Given the description of an element on the screen output the (x, y) to click on. 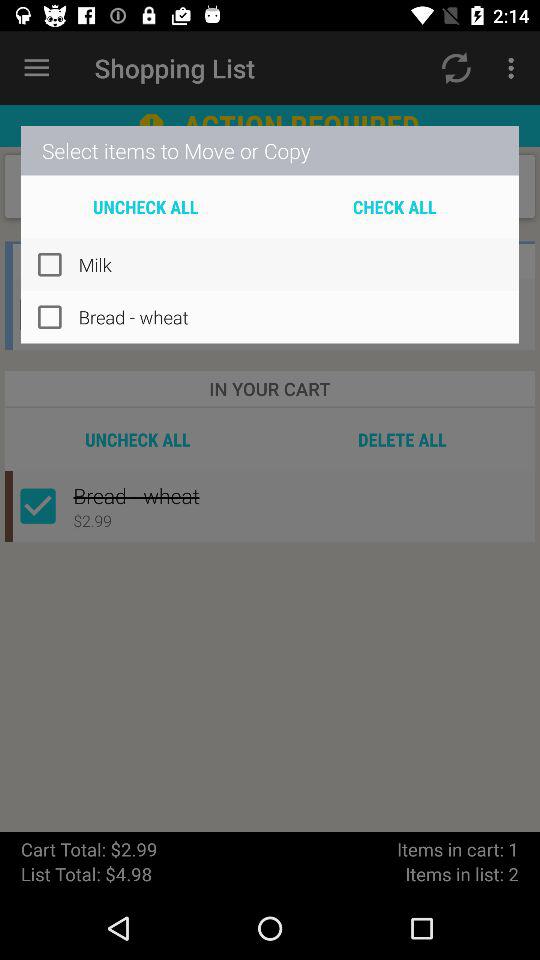
turn off icon to the left of check all icon (145, 206)
